Given the description of an element on the screen output the (x, y) to click on. 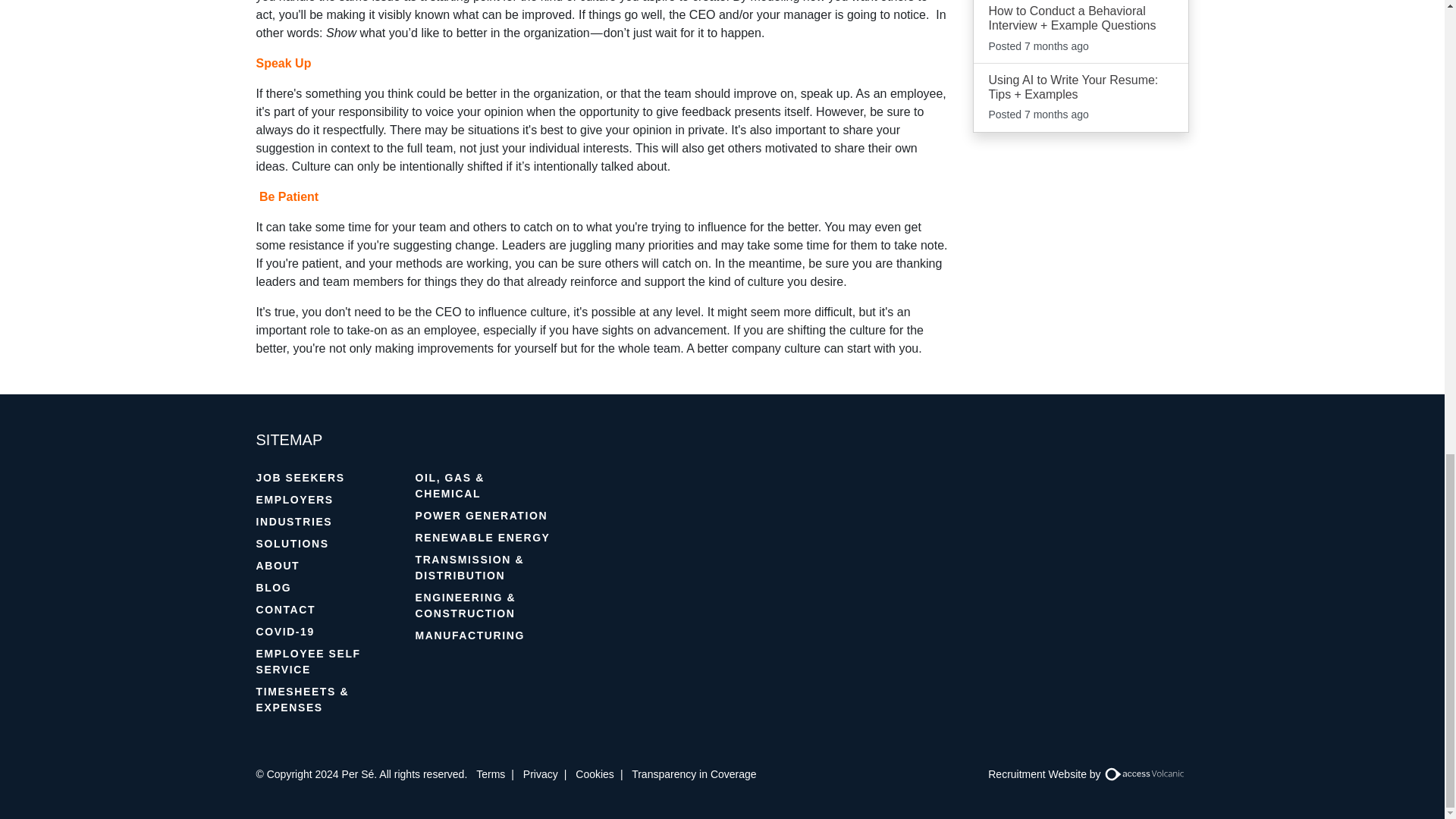
INDUSTRIES (324, 522)
BLOG (324, 587)
EMPLOYERS (324, 499)
CONTACT (324, 609)
ABOUT (324, 566)
JOB SEEKERS (324, 477)
SOLUTIONS (324, 544)
COVID-19 (324, 631)
